Given the description of an element on the screen output the (x, y) to click on. 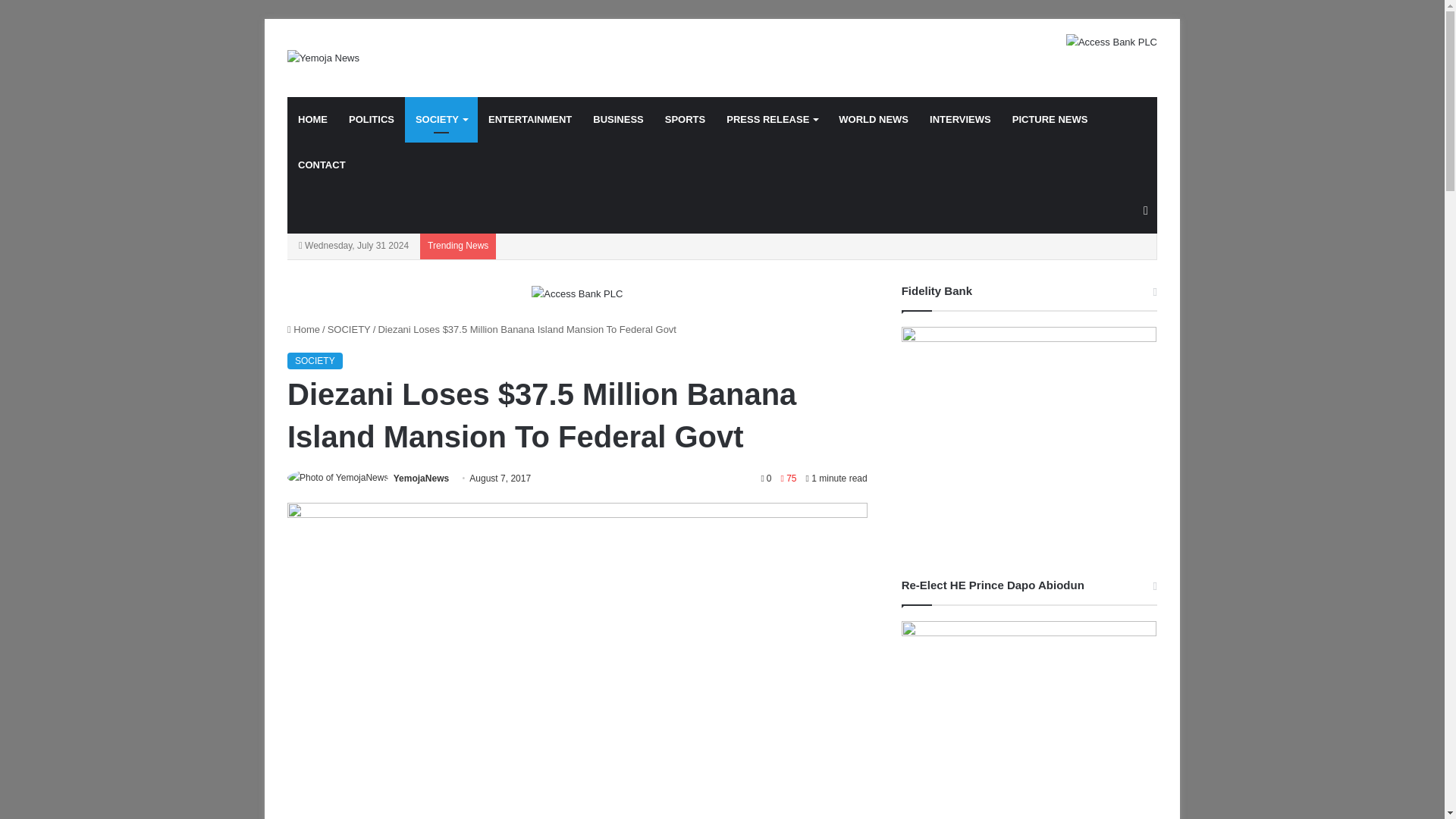
PRESS RELEASE (772, 119)
CONTACT (321, 165)
Home (303, 328)
PICTURE NEWS (1050, 119)
SOCIETY (440, 119)
SPORTS (684, 119)
INTERVIEWS (959, 119)
SOCIETY (349, 328)
BUSINESS (617, 119)
HOME (311, 119)
ENTERTAINMENT (529, 119)
YemojaNews (420, 478)
Yemoja News (322, 57)
SOCIETY (314, 360)
POLITICS (370, 119)
